Given the description of an element on the screen output the (x, y) to click on. 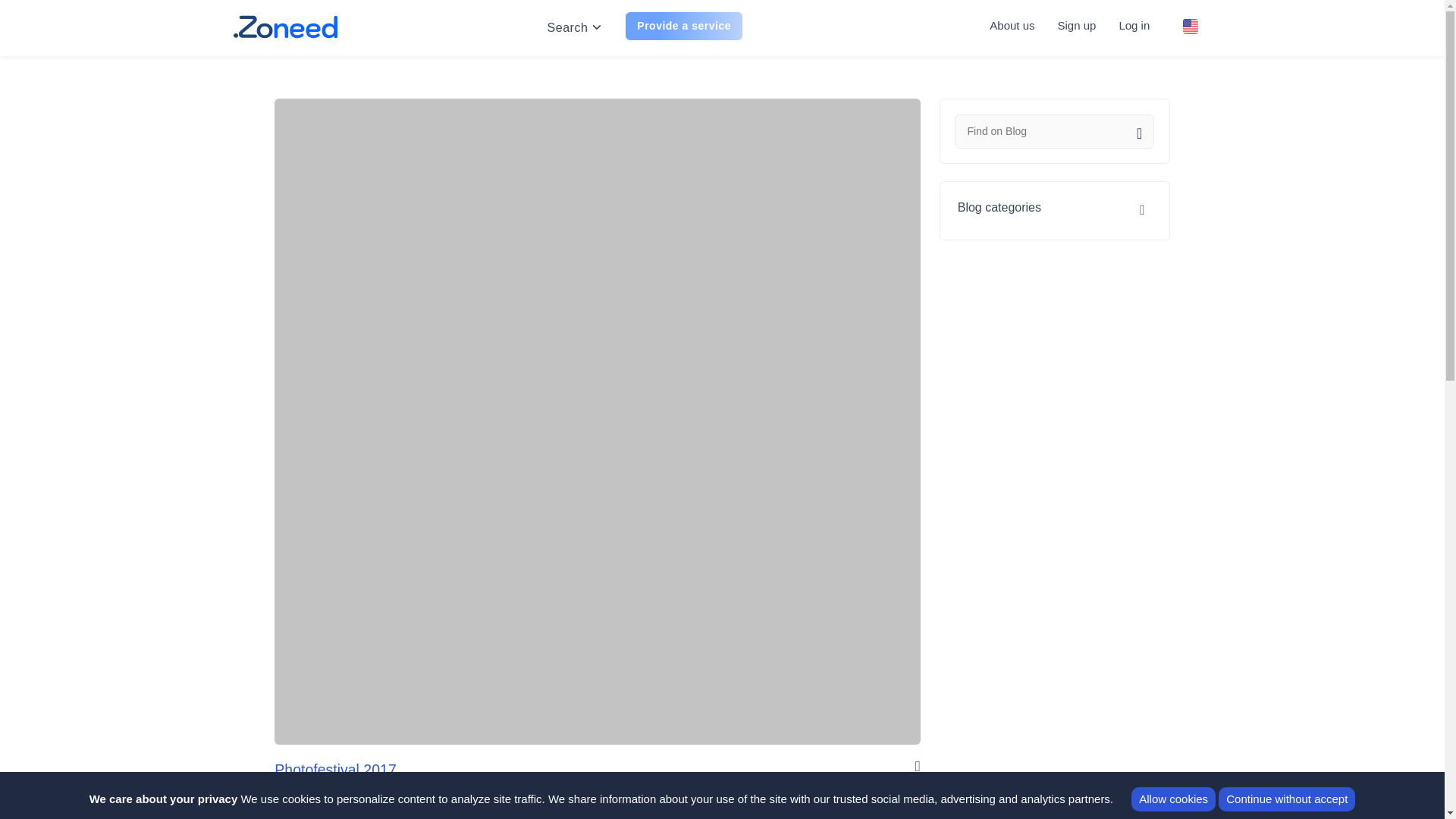
Provide a service (684, 26)
Provide a service (684, 26)
Log in (1134, 24)
Sign up (1076, 24)
Photofestival 2017 (335, 772)
Blog categories (1054, 207)
About us (1011, 24)
Redazione Z. (318, 808)
Search (567, 28)
17 (884, 808)
Search (1131, 132)
